Given the description of an element on the screen output the (x, y) to click on. 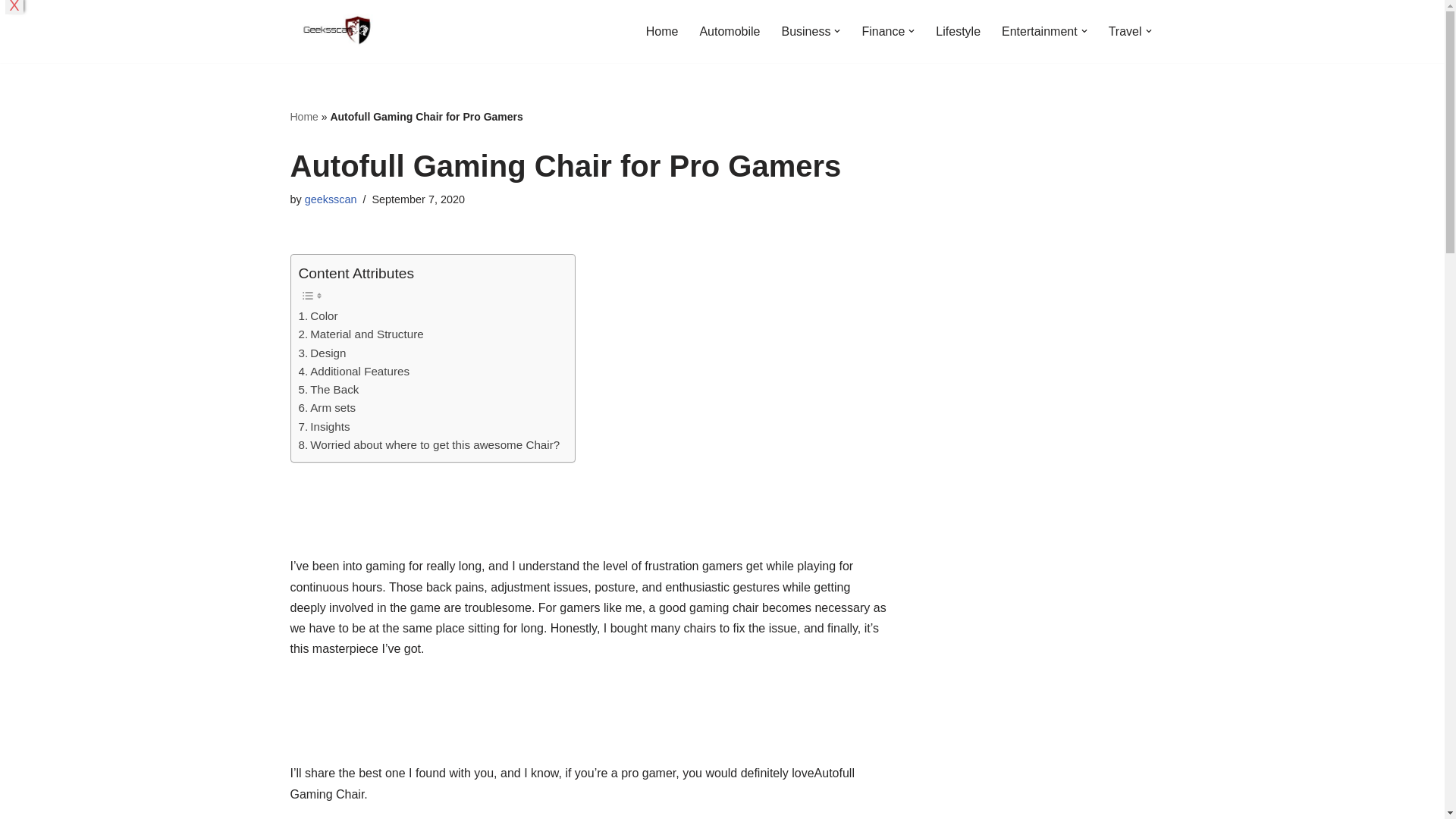
Insights (324, 426)
Material and Structure (360, 334)
The Back (328, 389)
Travel (1124, 31)
Advertisement (588, 515)
Lifestyle (957, 31)
Posts by geeksscan (330, 199)
Worried about where to get this awesome Chair? (429, 444)
Arm sets (327, 407)
Business (804, 31)
Entertainment (1039, 31)
Additional Features (354, 371)
Design (322, 352)
Color (317, 316)
Home (662, 31)
